Given the description of an element on the screen output the (x, y) to click on. 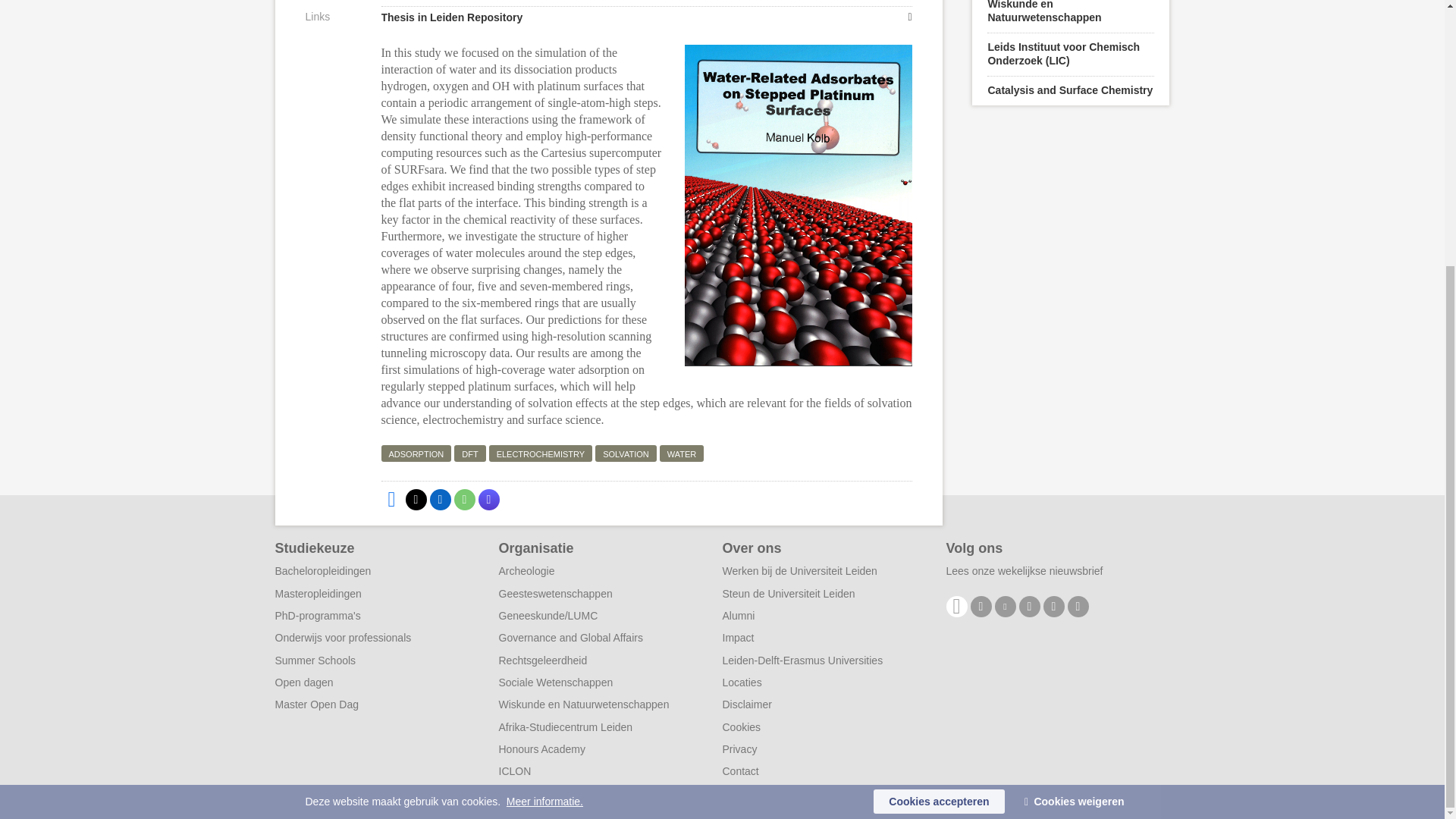
WATER (681, 453)
DFT (469, 453)
Thesis in Leiden Repository (645, 17)
ADSORPTION (415, 453)
Delen op LinkedIn (439, 499)
ELECTROCHEMISTRY (540, 453)
Delen op X (415, 499)
Delen via Mastodon (488, 499)
Delen op Facebook (390, 499)
SOLVATION (625, 453)
